Given the description of an element on the screen output the (x, y) to click on. 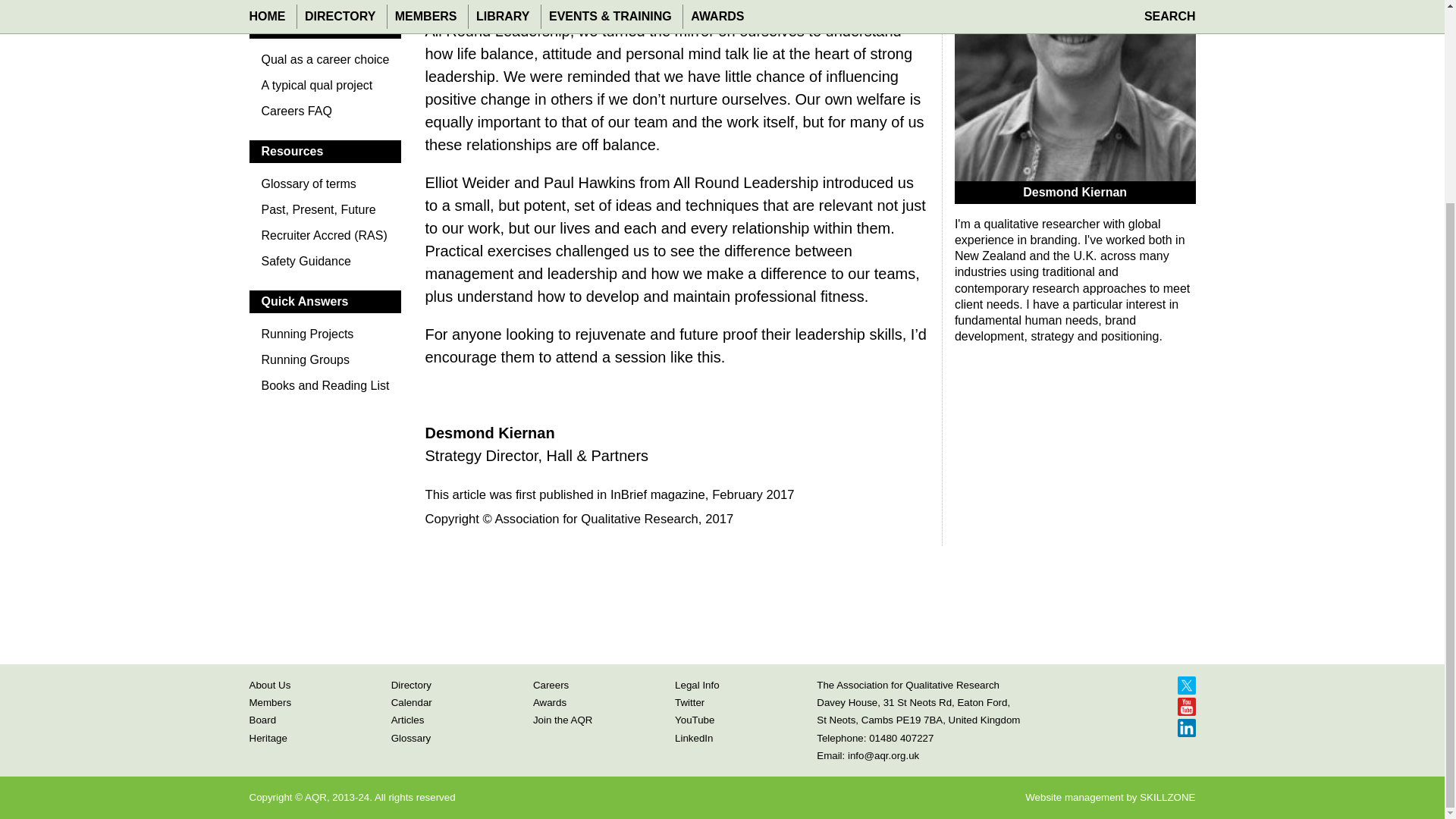
Qual as a career choice (324, 63)
Safety Guidance (324, 265)
Careers FAQ (324, 114)
A typical qual project (324, 89)
Glossary (410, 737)
Careers (550, 685)
Members (269, 702)
Past, Present, Future (324, 213)
About Us (268, 685)
Heritage (267, 737)
